Given the description of an element on the screen output the (x, y) to click on. 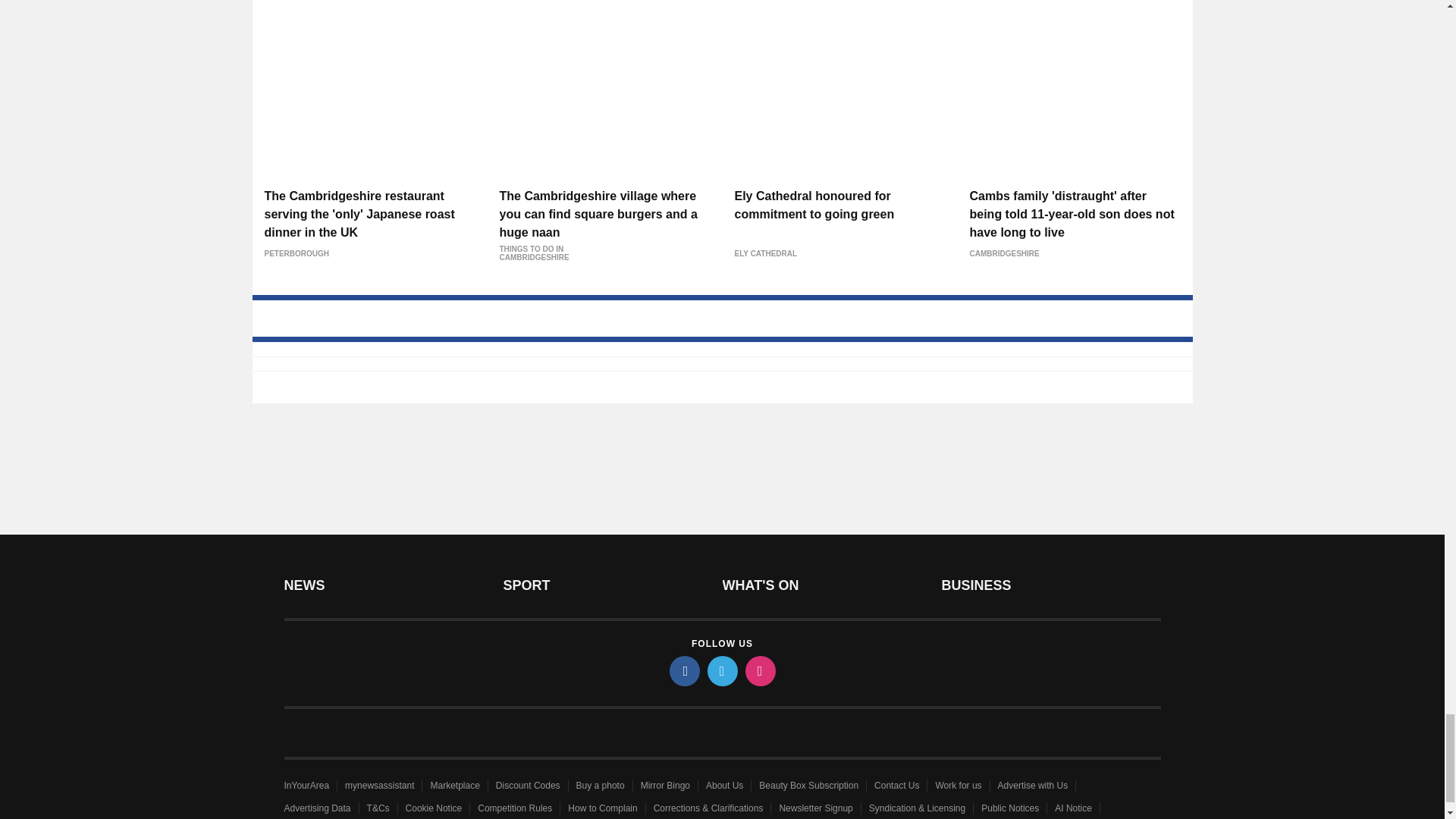
twitter (721, 671)
instagram (759, 671)
facebook (683, 671)
